Given the description of an element on the screen output the (x, y) to click on. 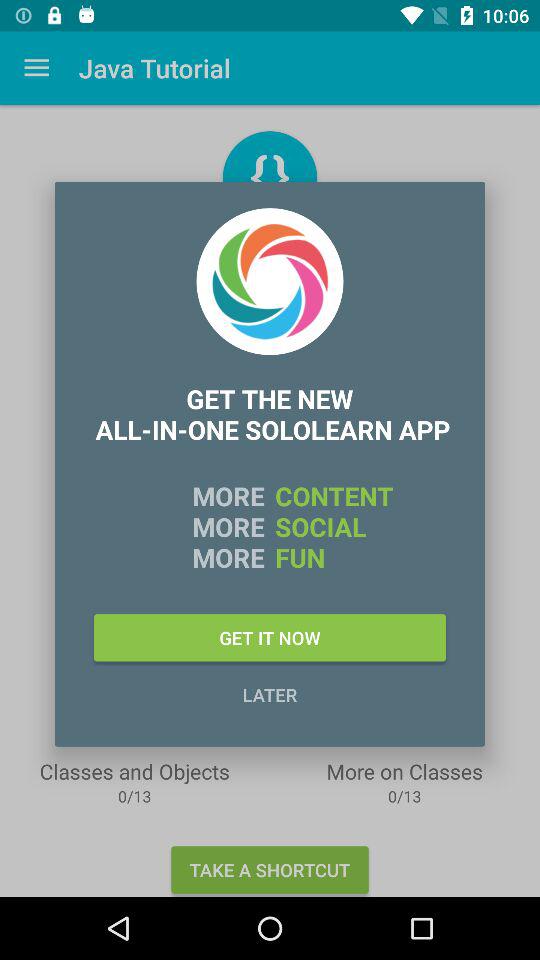
turn off item at the bottom (269, 694)
